Given the description of an element on the screen output the (x, y) to click on. 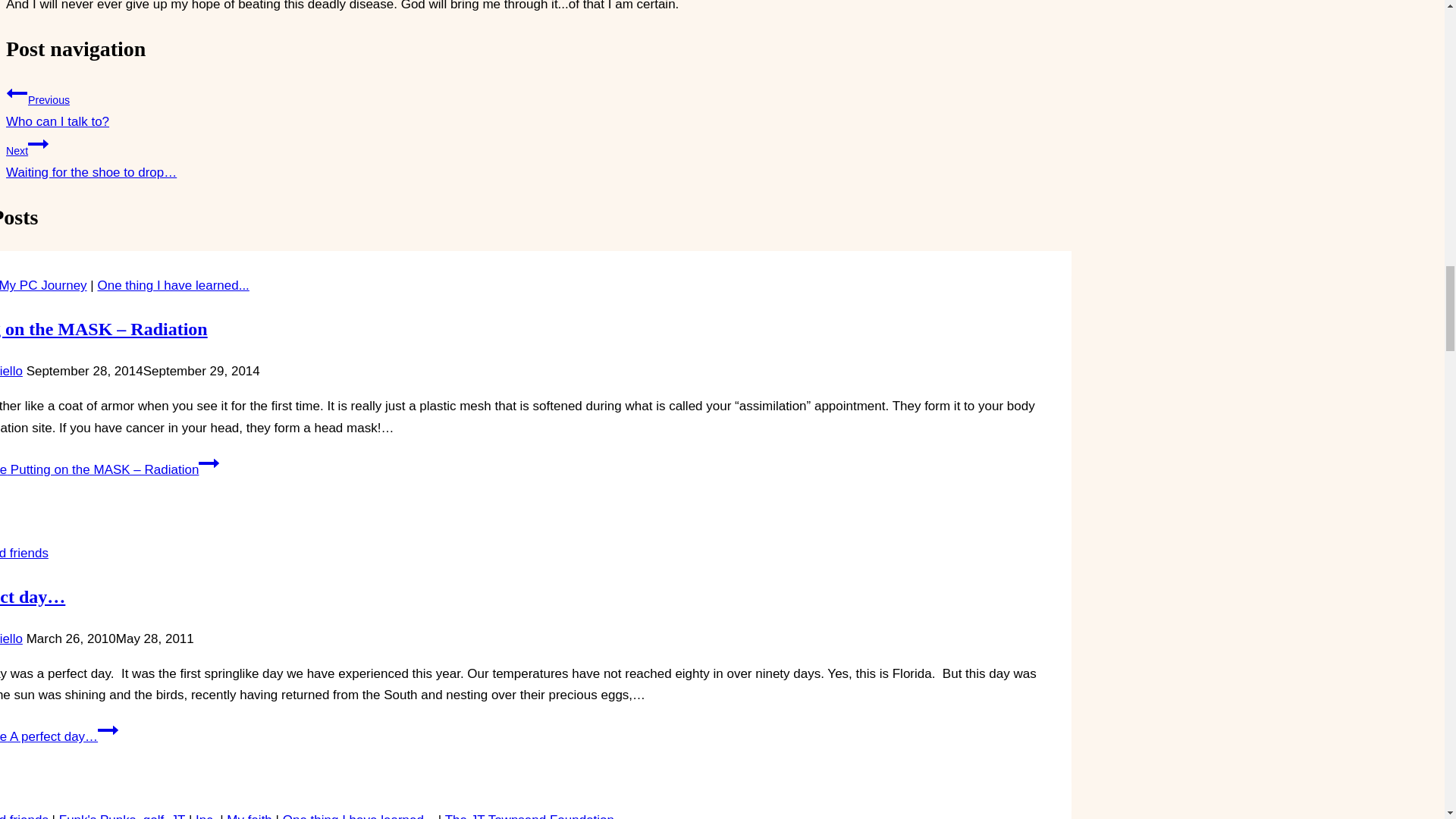
My PC Journey (42, 285)
One thing I have learned... (494, 105)
Judi Zitiello (172, 285)
Judi Zitiello (11, 638)
One thing I have learned... (11, 370)
Family and friends (357, 816)
My faith (24, 816)
Continue (249, 816)
Continue (37, 143)
